Given the description of an element on the screen output the (x, y) to click on. 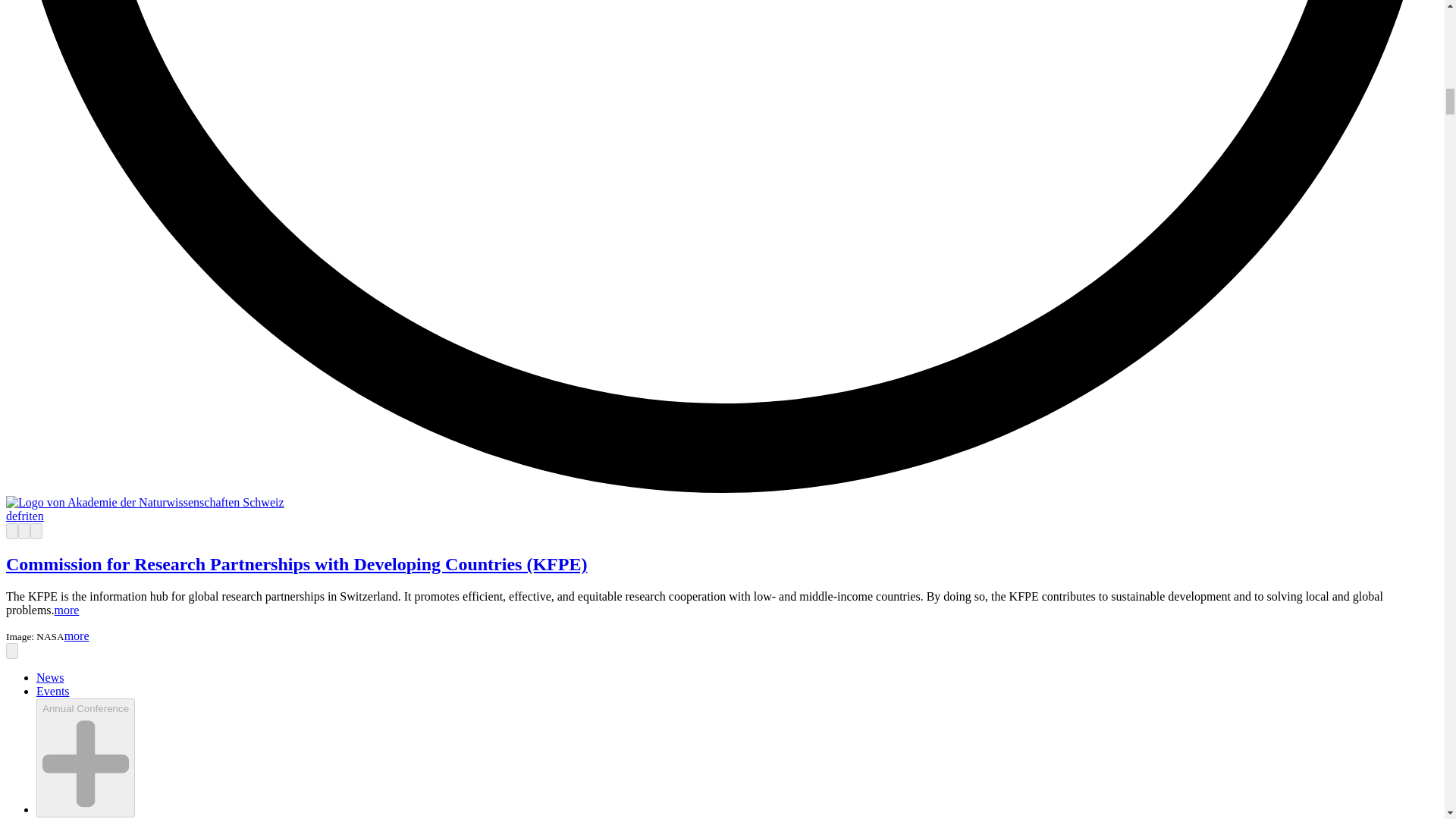
Events (52, 690)
News (50, 676)
Annual Conference (83, 818)
more (76, 635)
more (67, 609)
